Given the description of an element on the screen output the (x, y) to click on. 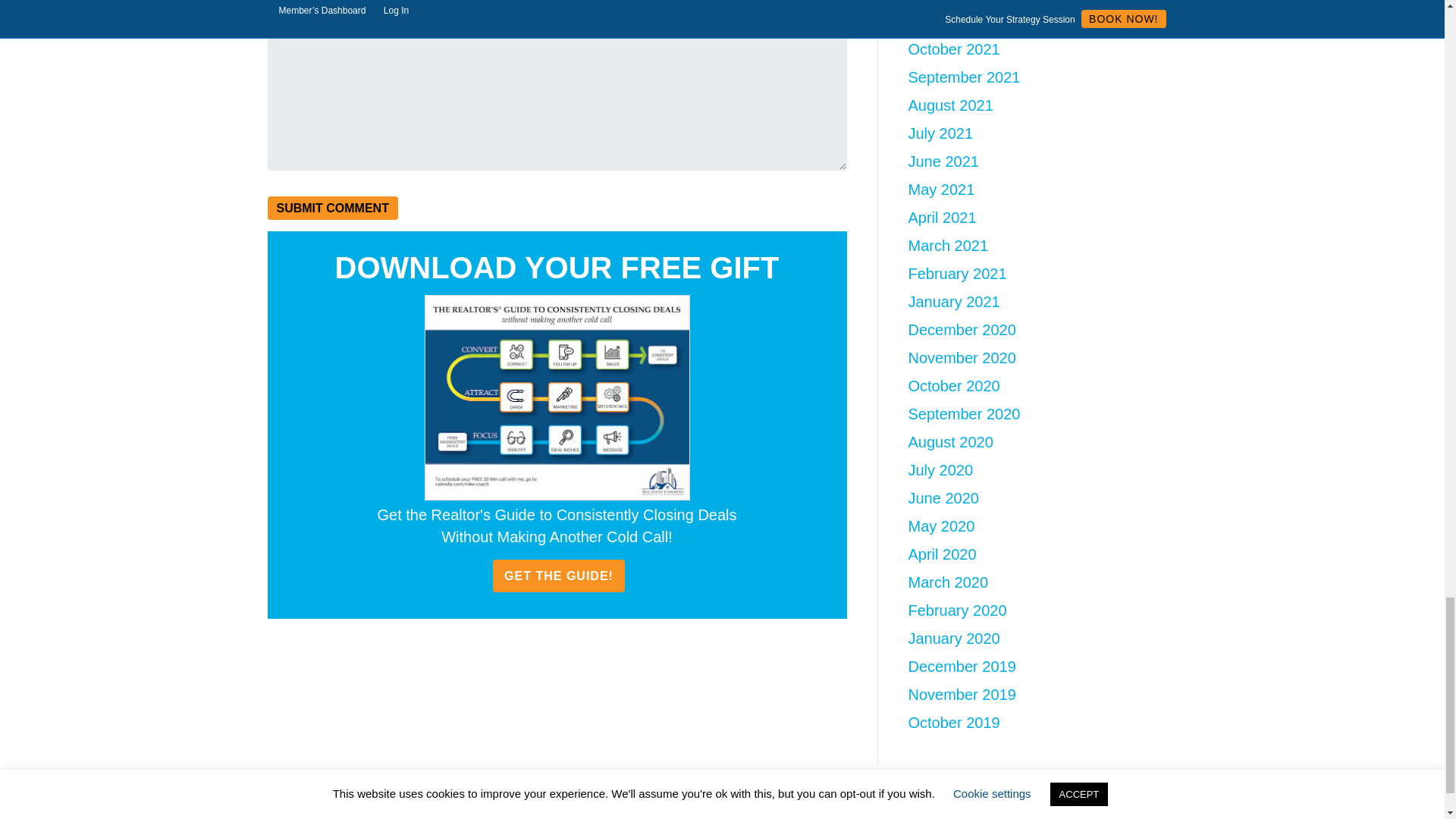
GET THE GUIDE! (558, 575)
Submit Comment (331, 208)
Submit Comment (331, 208)
